Given the description of an element on the screen output the (x, y) to click on. 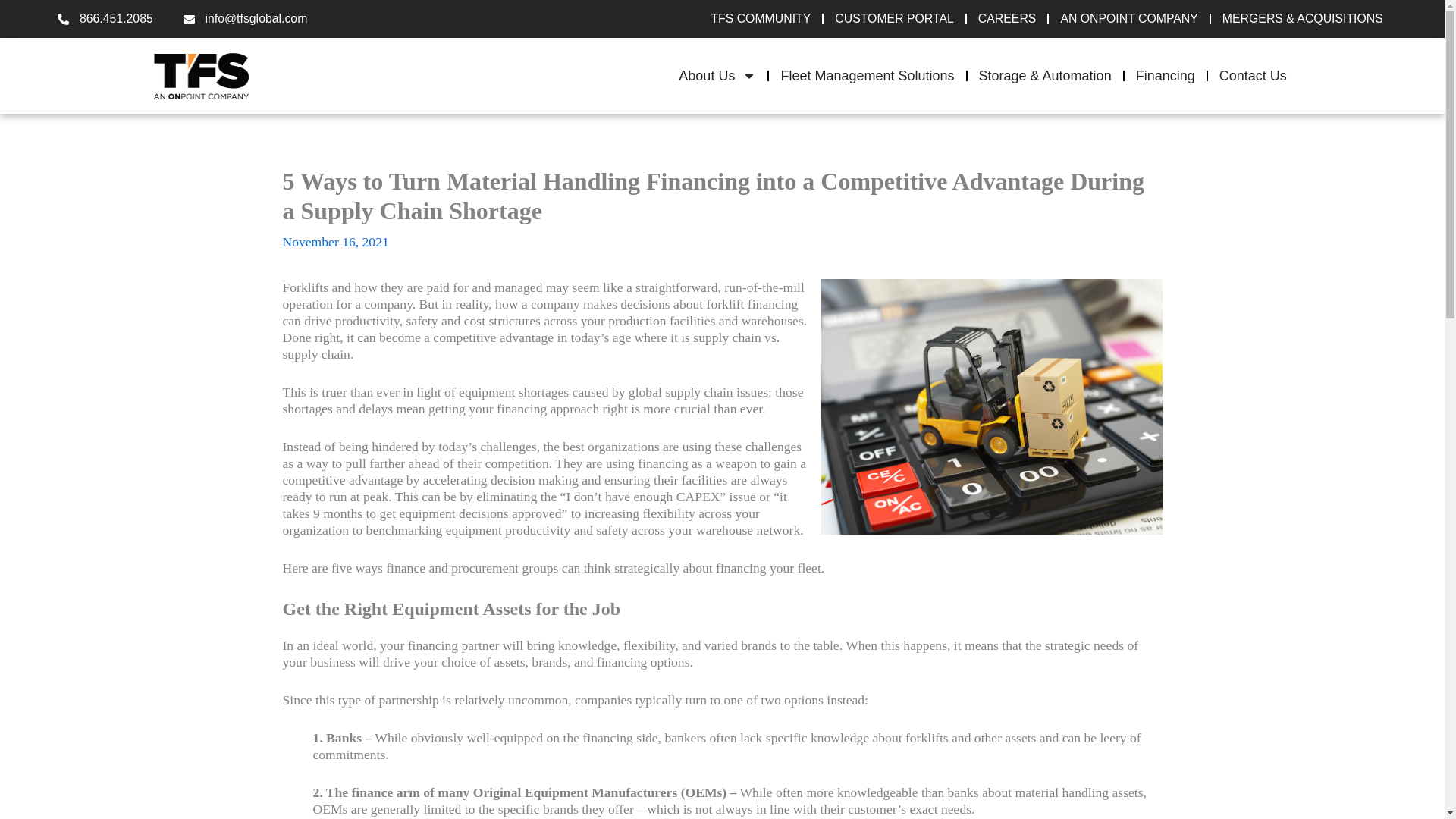
About Us (717, 75)
TFS COMMUNITY (759, 19)
CUSTOMER PORTAL (894, 19)
AN ONPOINT COMPANY (1129, 19)
Contact Us (1252, 75)
Financing (1165, 75)
CAREERS (1007, 19)
Fleet Management Solutions (867, 75)
866.451.2085 (105, 18)
